Given the description of an element on the screen output the (x, y) to click on. 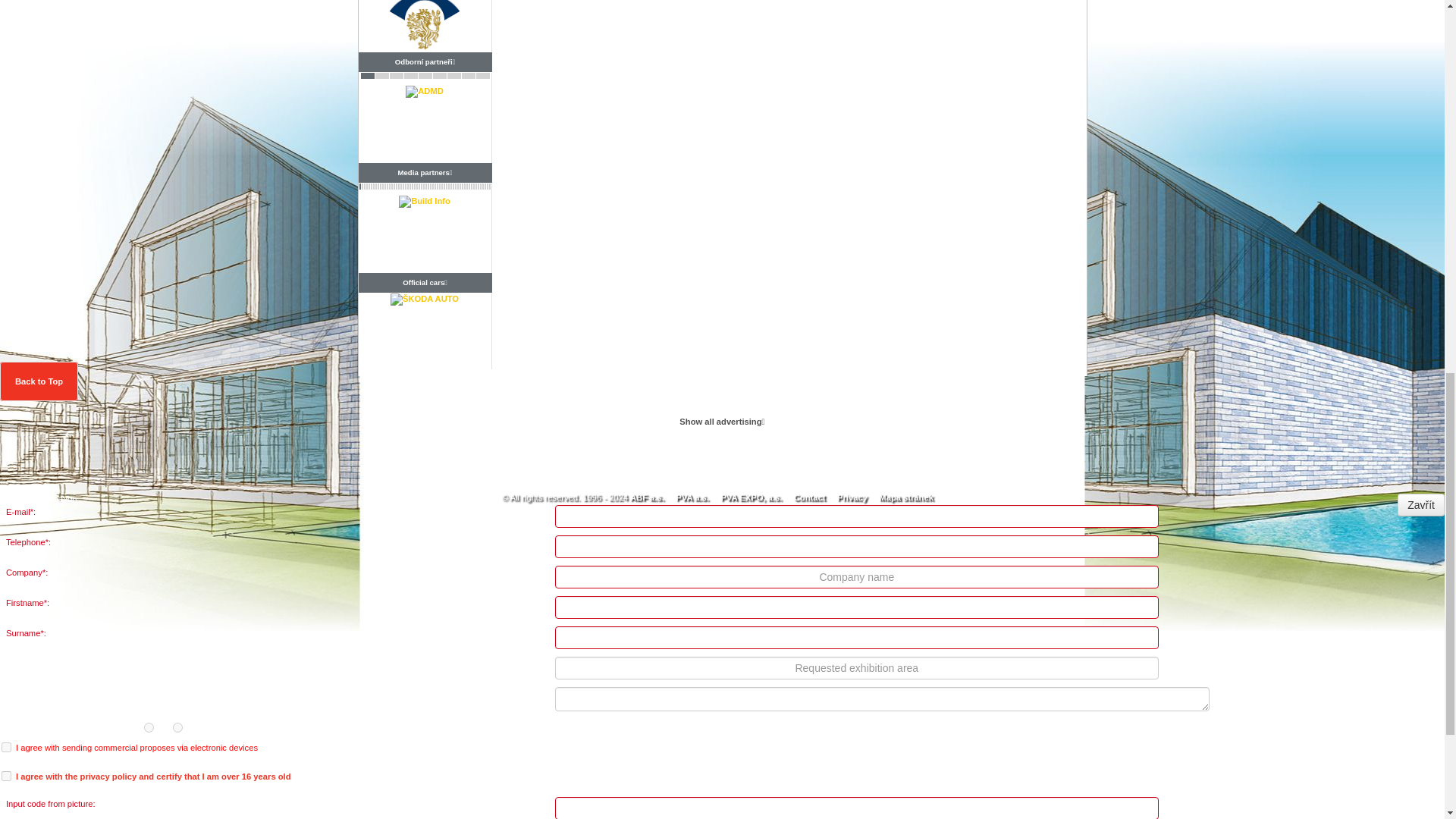
Show all advertising (722, 421)
Build Info (424, 206)
PVA a.s. (692, 497)
1 (6, 776)
Back to Top (39, 381)
Privacy (852, 497)
Contact (809, 497)
ABF a.s. (646, 497)
1758 (178, 727)
1 (6, 747)
